Given the description of an element on the screen output the (x, y) to click on. 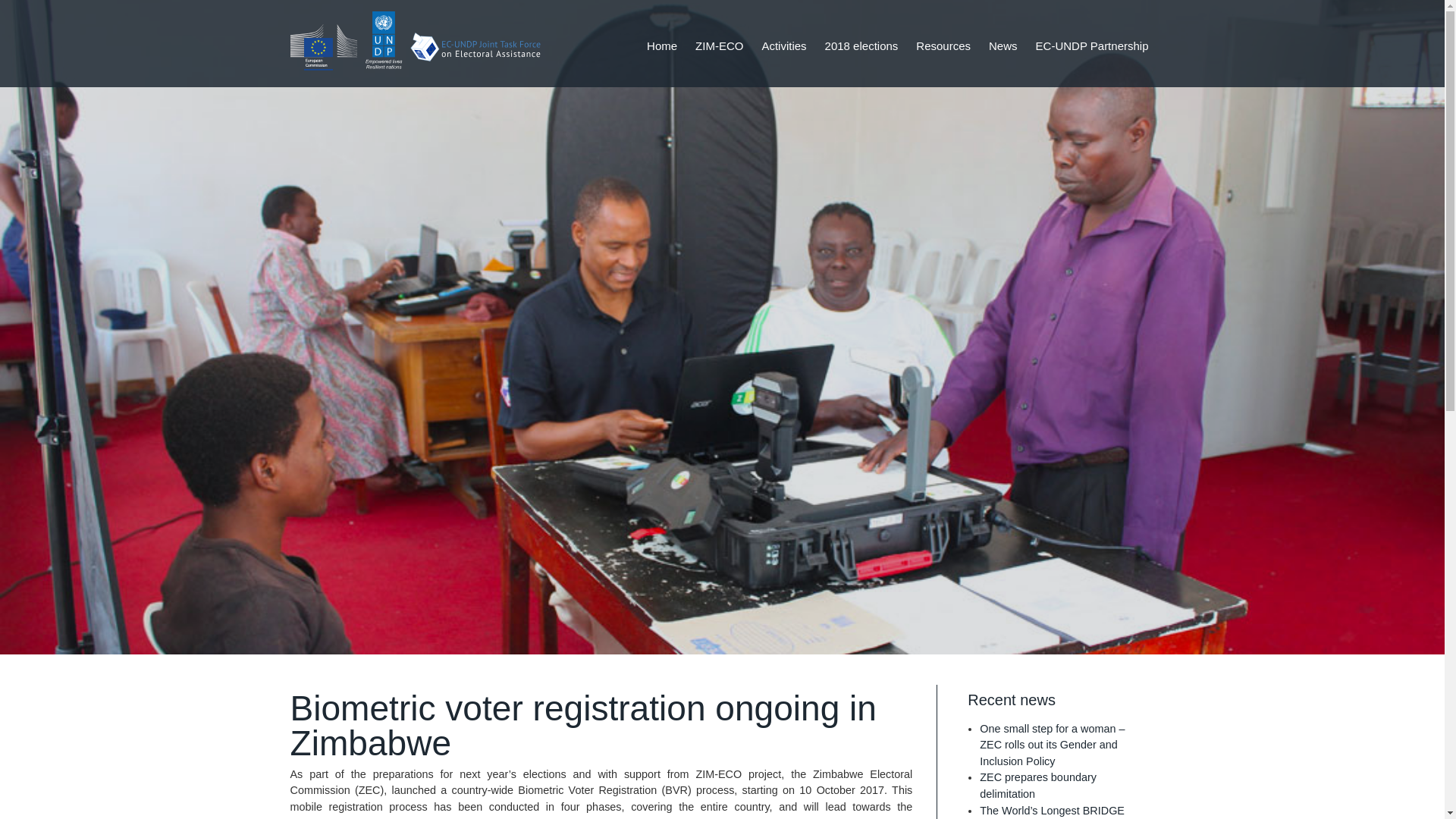
2018 elections (1404, 46)
EC-UNDP Partnership (1146, 46)
